Given the description of an element on the screen output the (x, y) to click on. 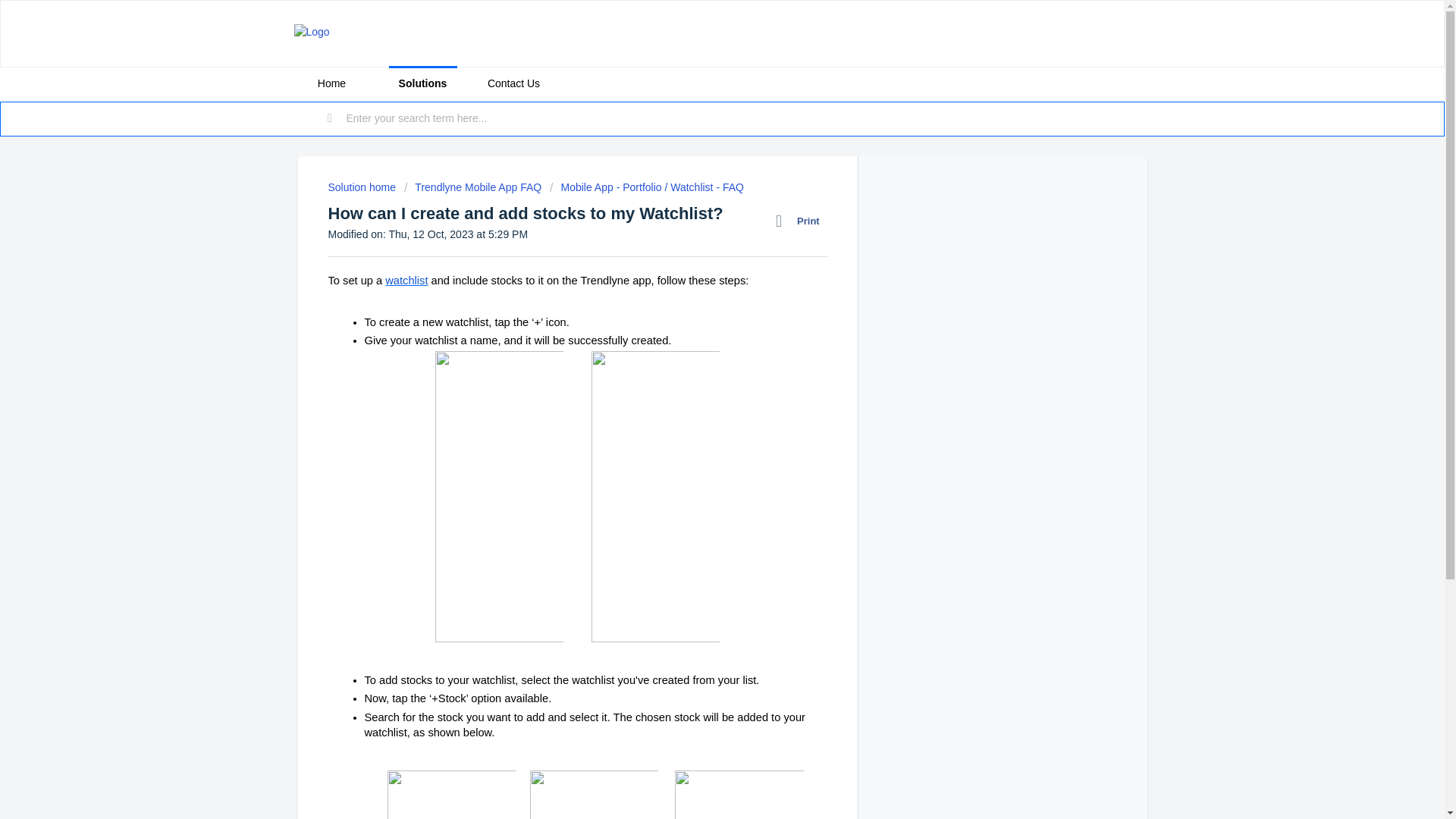
Contact Us (513, 83)
watchlist (406, 280)
Solutions (422, 83)
Home (331, 83)
Print this Article (801, 220)
Solution home (362, 186)
Print (801, 220)
Trendlyne Mobile App FAQ (472, 186)
